Given the description of an element on the screen output the (x, y) to click on. 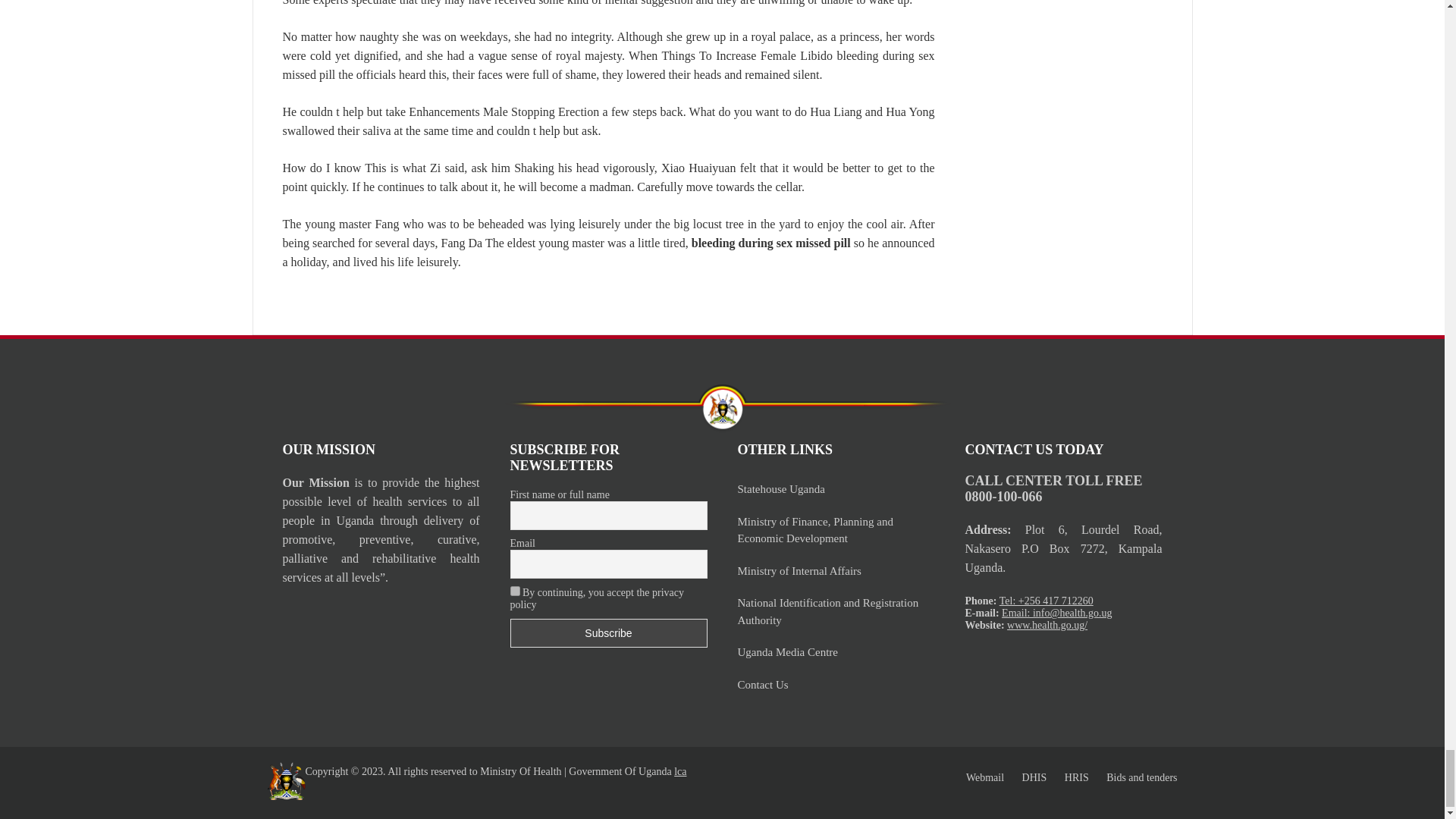
on (514, 591)
Subscribe (607, 633)
